Given the description of an element on the screen output the (x, y) to click on. 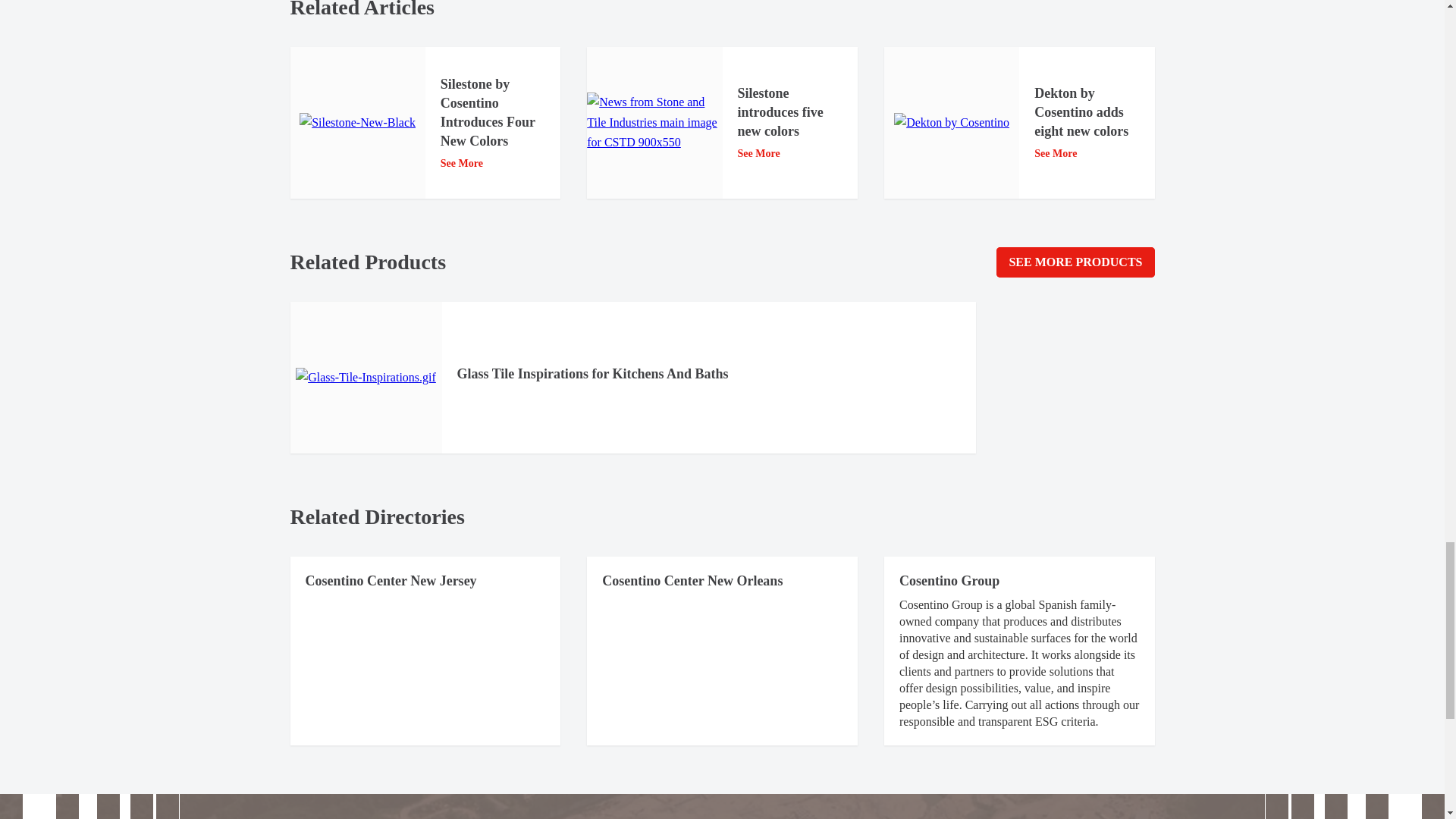
Dekton by Cosentino  (951, 122)
Glass-Tile-Inspirations.gif (365, 377)
Silestone-Iconic-Black-Stellar-Night.jpg (356, 122)
CSTD News (654, 122)
